Given the description of an element on the screen output the (x, y) to click on. 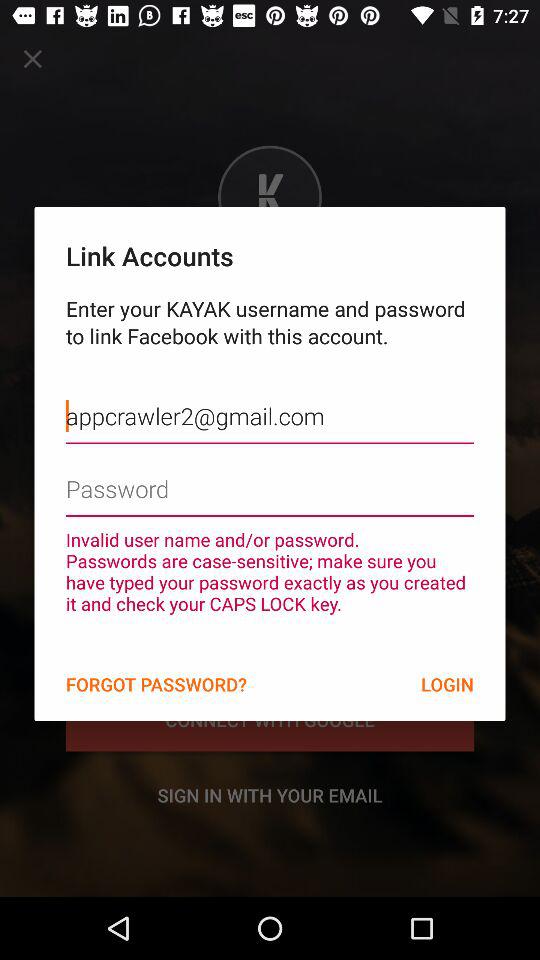
select the login item (447, 683)
